Given the description of an element on the screen output the (x, y) to click on. 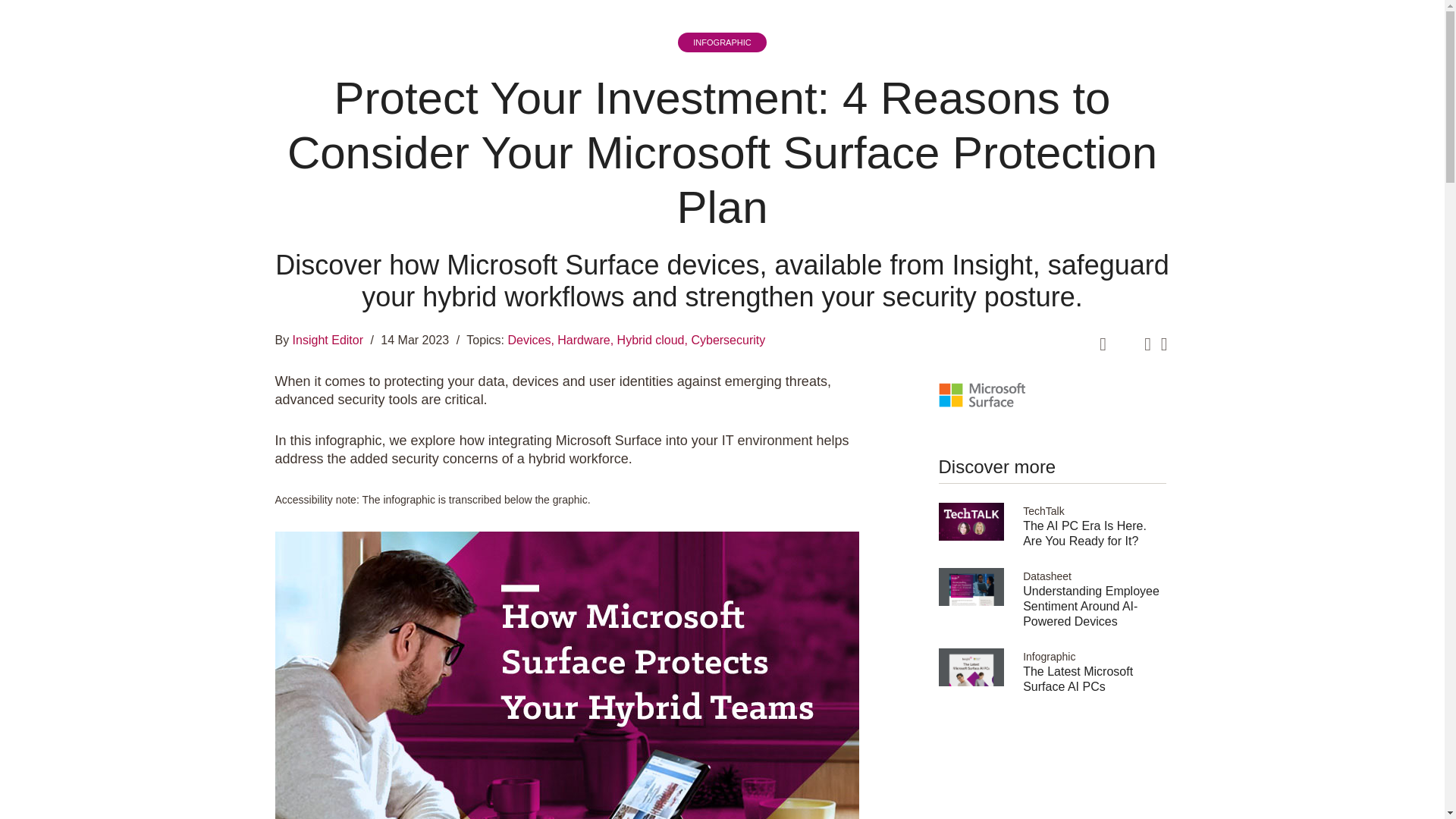
Hardware (584, 339)
Hybrid cloud (652, 339)
Cybersecurity (727, 339)
INFOGRAPHIC (722, 41)
 Insight Editor (325, 339)
Devices (531, 339)
